Given the description of an element on the screen output the (x, y) to click on. 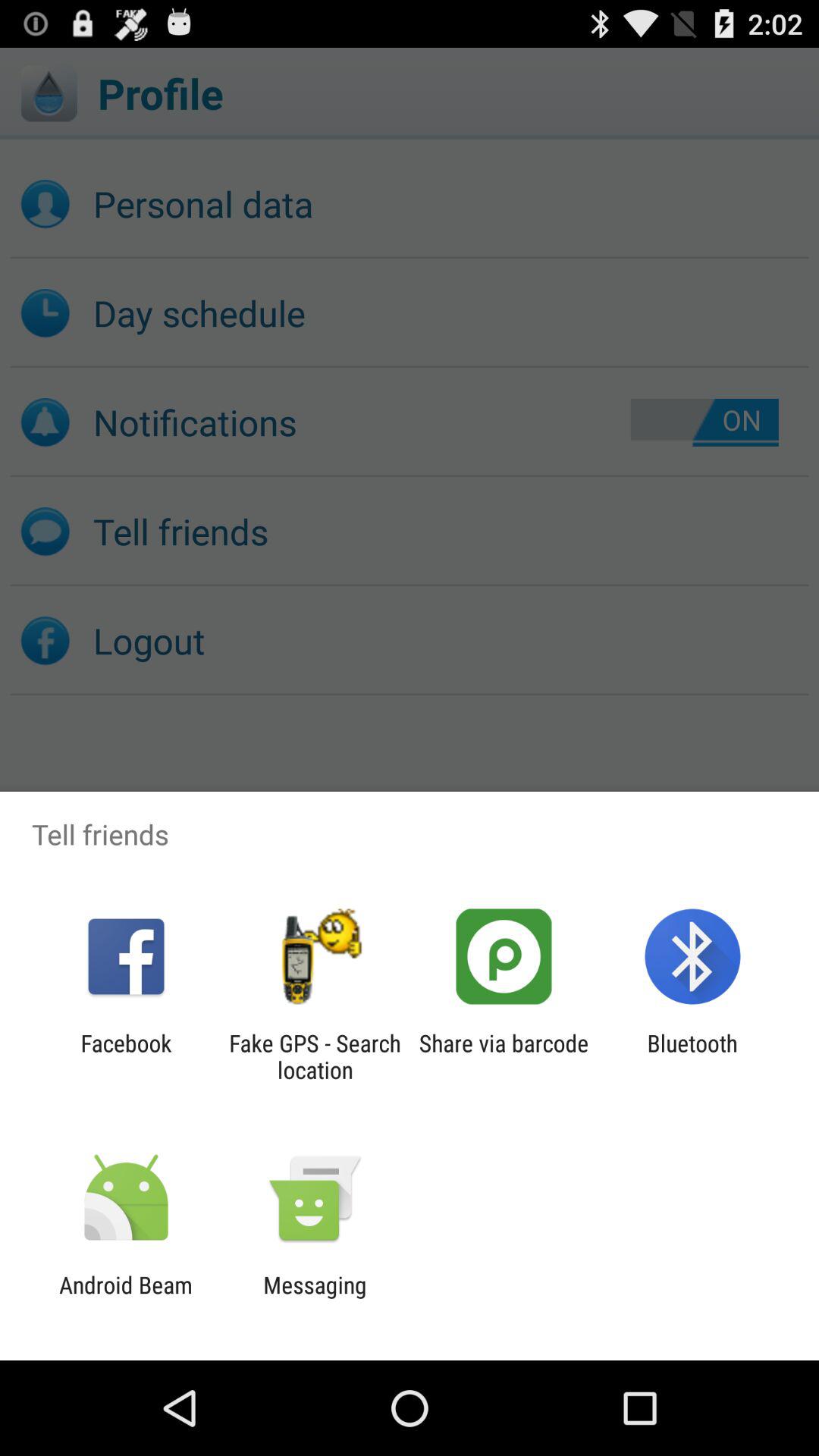
choose the messaging app (314, 1298)
